Given the description of an element on the screen output the (x, y) to click on. 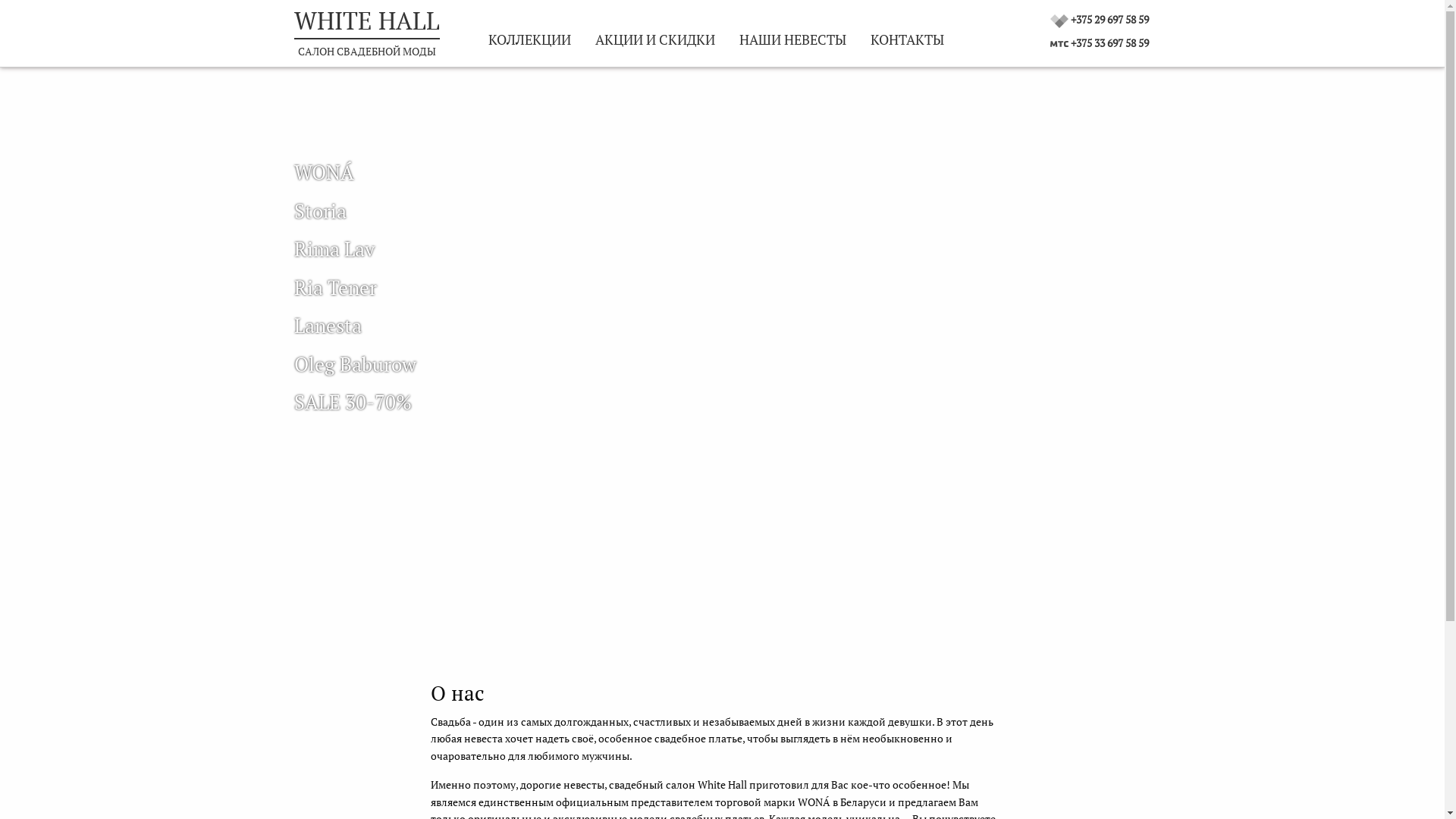
Ria Tener Element type: text (335, 287)
Rima Lav Element type: text (334, 248)
+375 33 697 58 59 Element type: text (1109, 41)
SALE 30-70% Element type: text (352, 401)
Lanesta Element type: text (327, 325)
+375 29 697 58 59 Element type: text (1109, 19)
Oleg Baburow Element type: text (355, 363)
Storia Element type: text (320, 210)
